Given the description of an element on the screen output the (x, y) to click on. 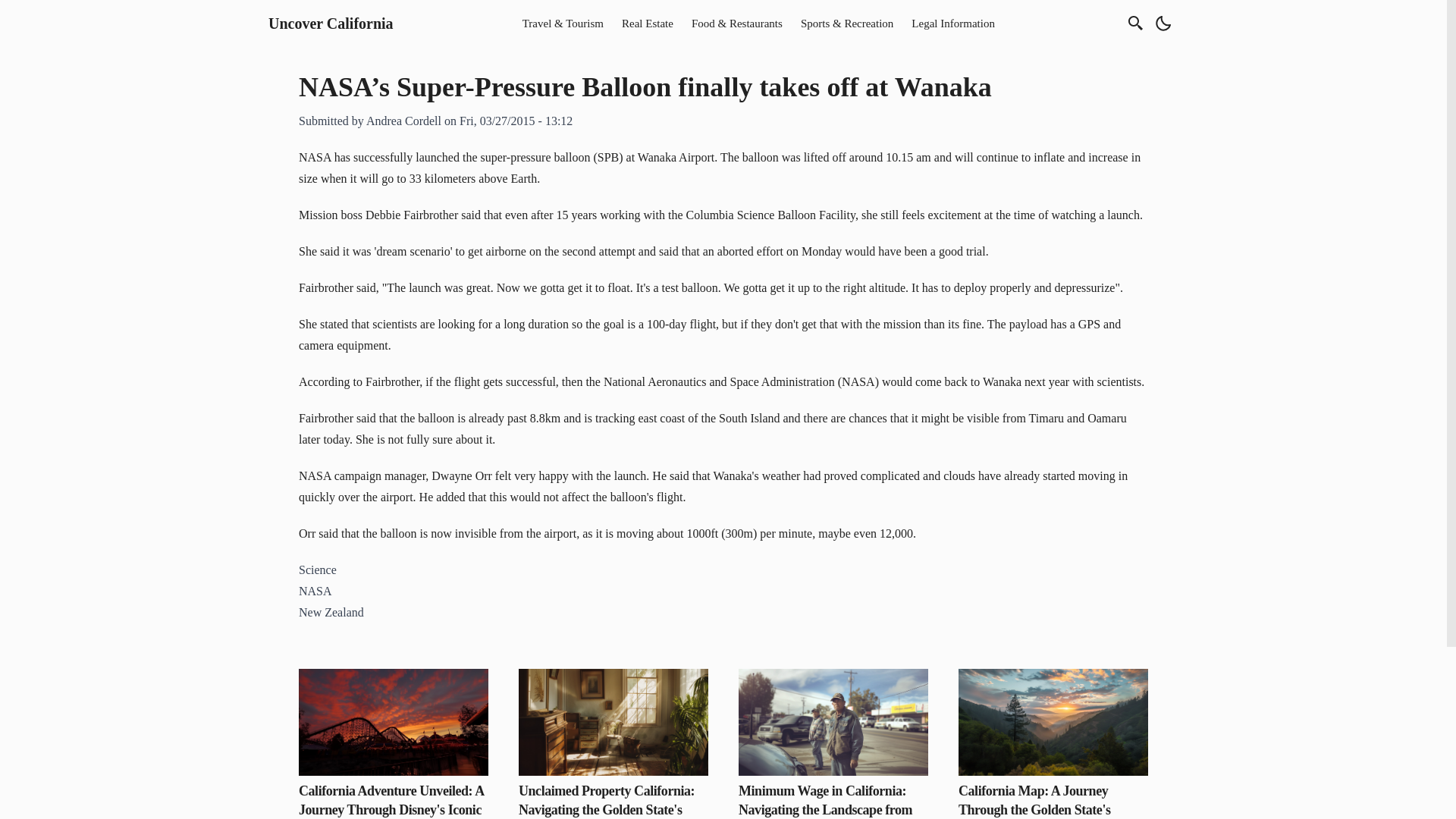
Uncover California (330, 23)
Legal Information (953, 23)
Real Estate (647, 23)
